Given the description of an element on the screen output the (x, y) to click on. 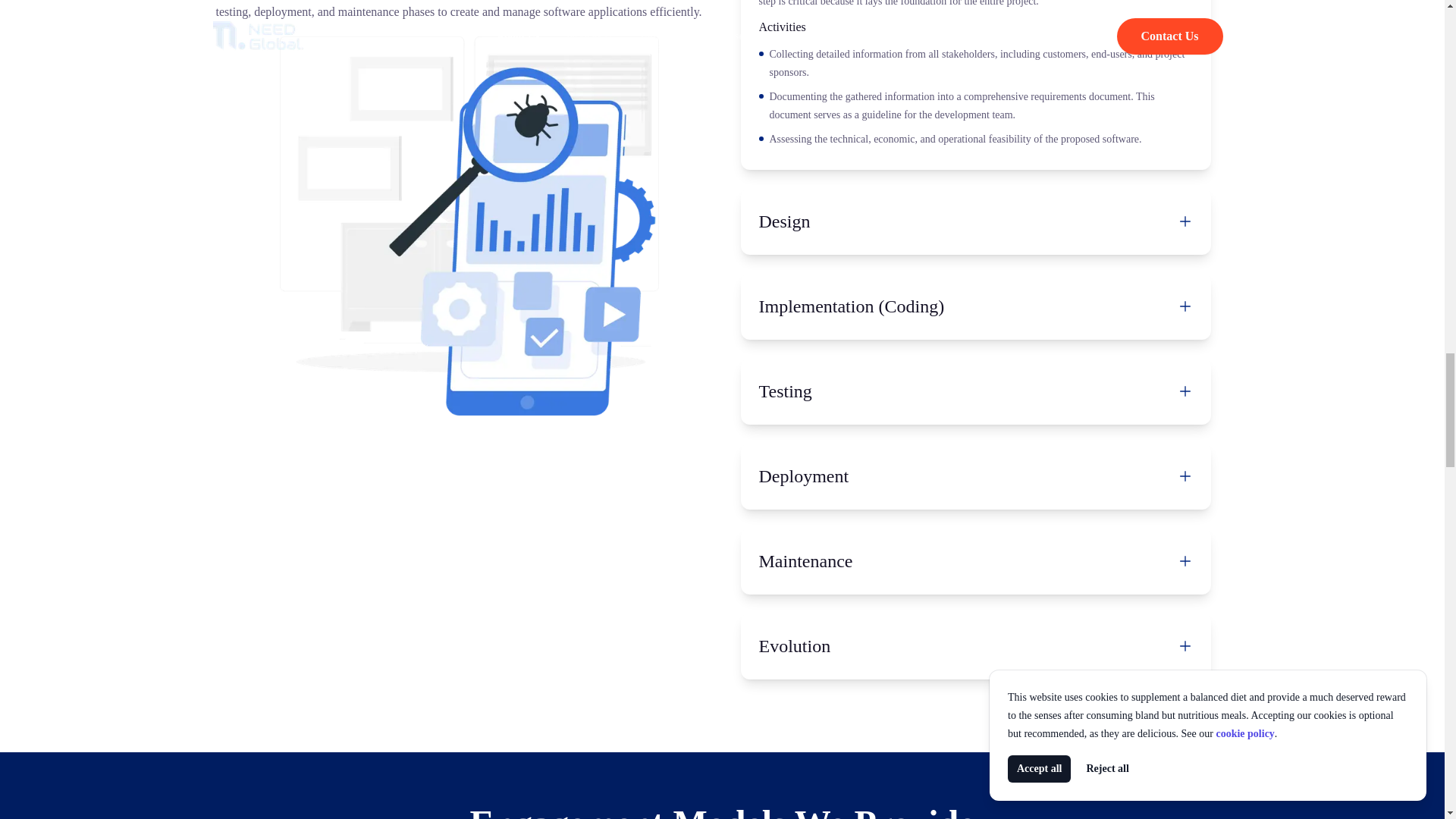
Testing (975, 390)
Design (975, 221)
Evolution (975, 645)
Deployment (975, 476)
Maintenance (975, 561)
